Given the description of an element on the screen output the (x, y) to click on. 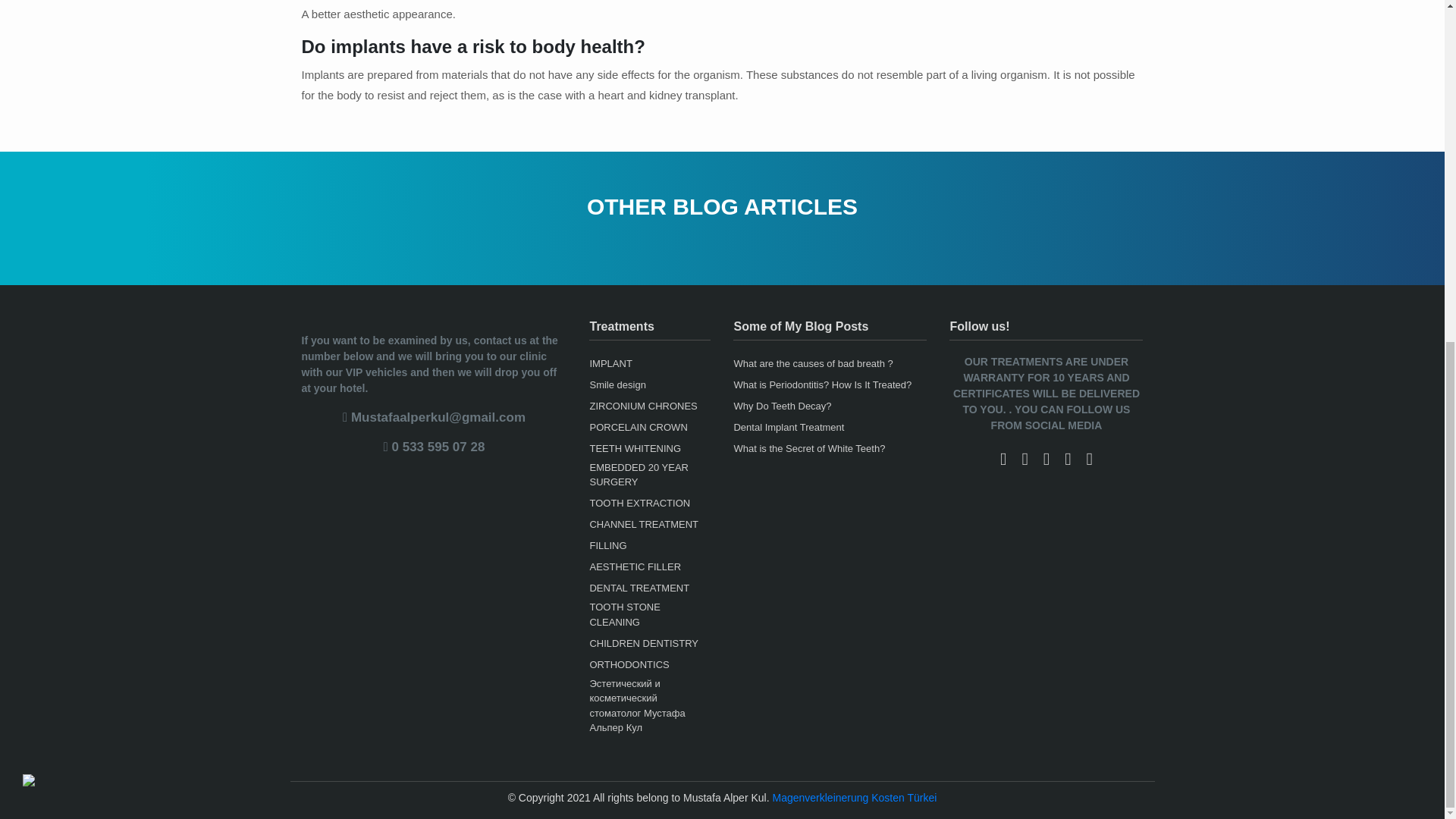
0 533 595 07 28 (434, 447)
IMPLANT (649, 363)
Treatments (649, 329)
